Given the description of an element on the screen output the (x, y) to click on. 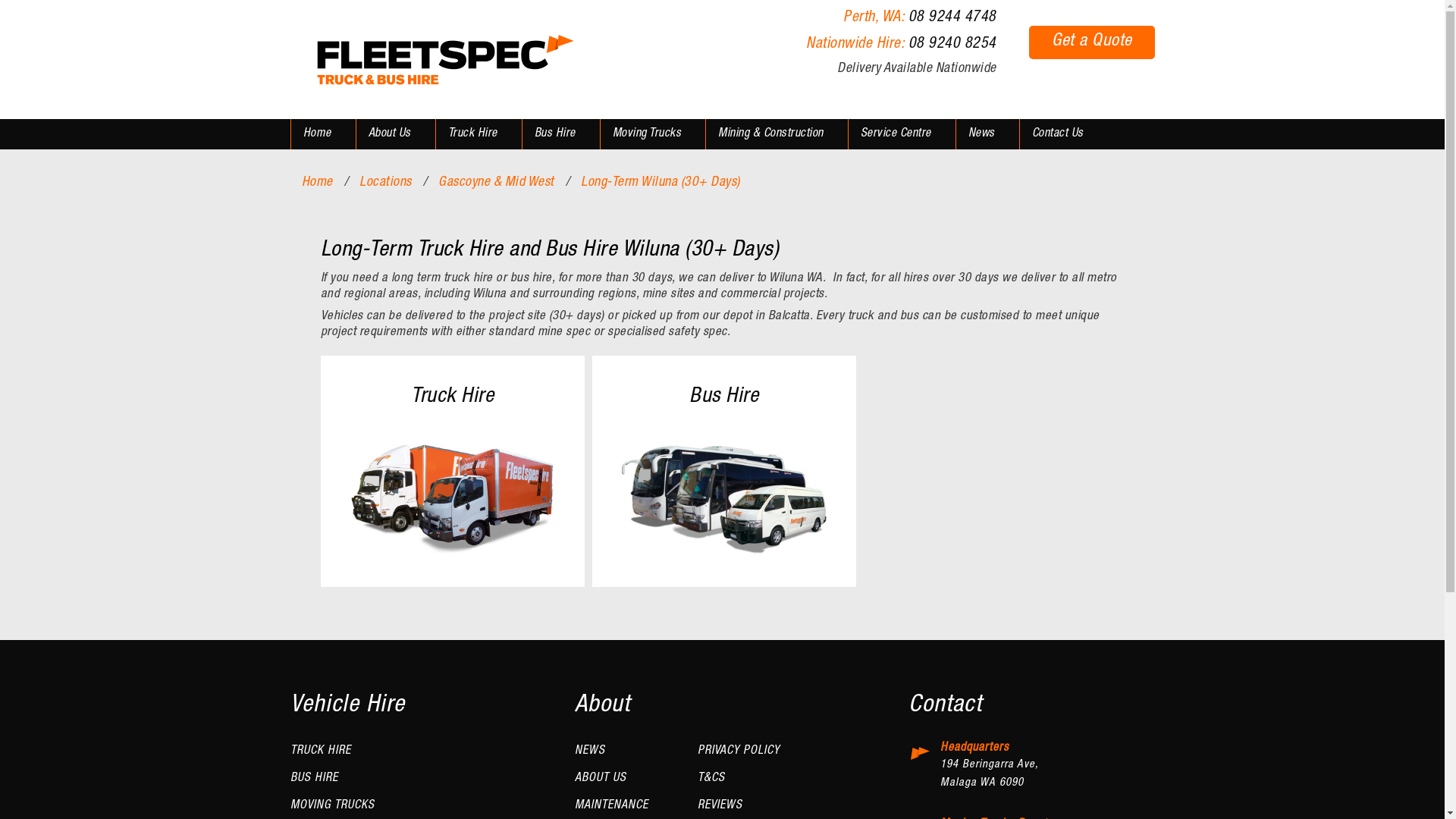
MAINTENANCE Element type: text (611, 806)
REVIEWS Element type: text (719, 806)
PRIVACY POLICY Element type: text (738, 751)
Truck Hire Element type: text (471, 133)
NEWS Element type: text (589, 751)
Home Element type: text (317, 182)
Contact Us Element type: text (1056, 133)
Locations Element type: text (385, 182)
MOVING TRUCKS Element type: text (331, 806)
Truck Hire Element type: text (451, 469)
Get a Quote Element type: text (1091, 42)
Home Element type: text (317, 133)
ABOUT US Element type: text (600, 778)
Service Centre Element type: text (894, 133)
TRUCK HIRE Element type: text (319, 751)
Mining & Construction Element type: text (770, 133)
About Us Element type: text (389, 133)
08 9240 8254 Element type: text (952, 44)
News Element type: text (980, 133)
BUS HIRE Element type: text (313, 778)
Moving Trucks Element type: text (646, 133)
08 9244 4748 Element type: text (952, 17)
Gascoyne & Mid West Element type: text (495, 182)
Bus Hire Element type: text (553, 133)
T&CS Element type: text (710, 778)
Long-Term Wiluna (30+ Days) Element type: text (660, 182)
Bus Hire Element type: text (723, 470)
